Given the description of an element on the screen output the (x, y) to click on. 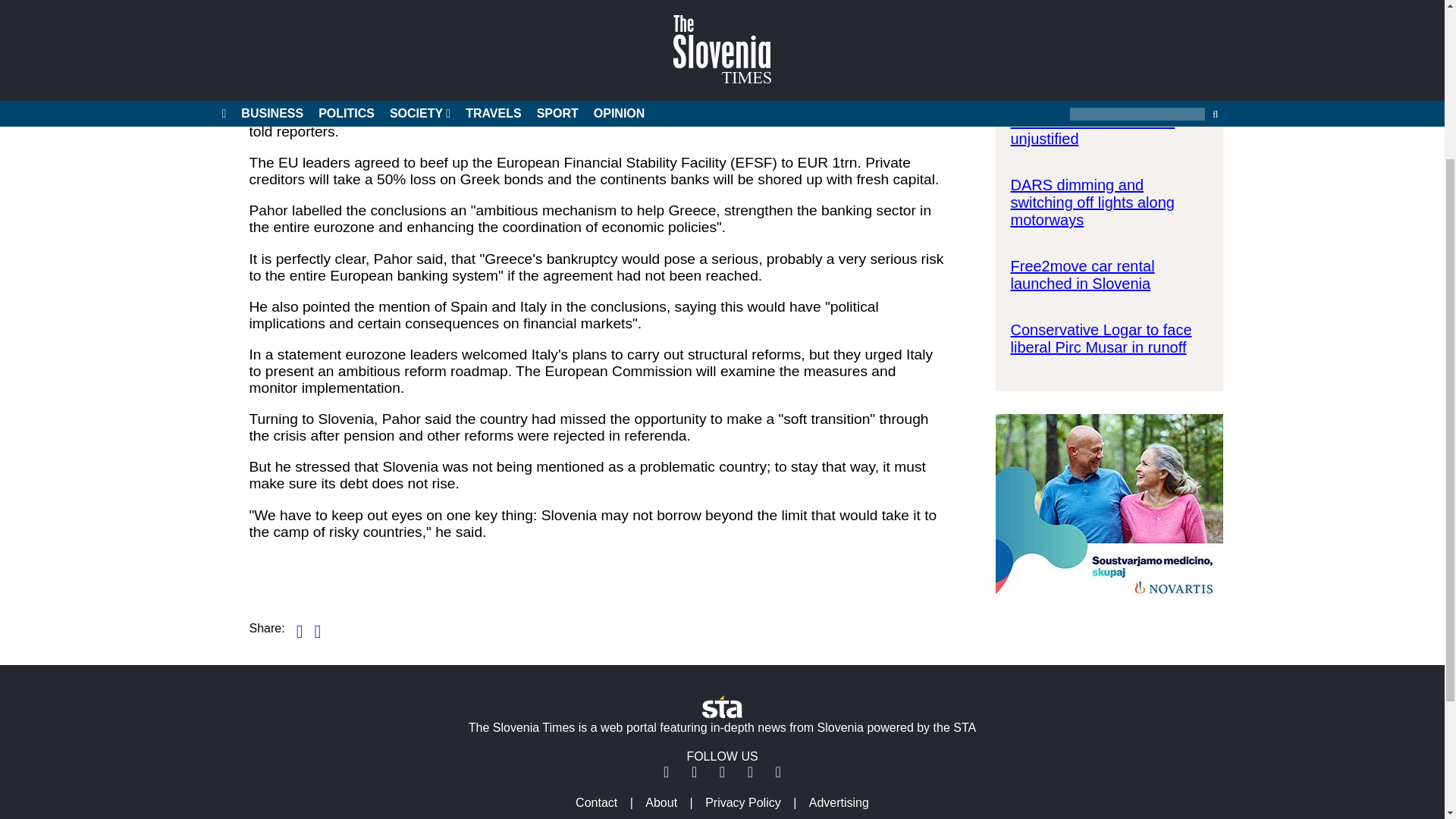
About (660, 802)
DARS dimming and switching off lights along motorways (1091, 202)
Contact (596, 802)
Advertising (838, 802)
Free2move car rental launched in Slovenia (1082, 274)
The Slovenia Times under new ownership (1098, 48)
Conservative Logar to face liberal Pirc Musar in runoff (1100, 338)
Privacy Policy (742, 802)
Slovenia finds Austria's border checks extension unjustified (1092, 121)
